Given the description of an element on the screen output the (x, y) to click on. 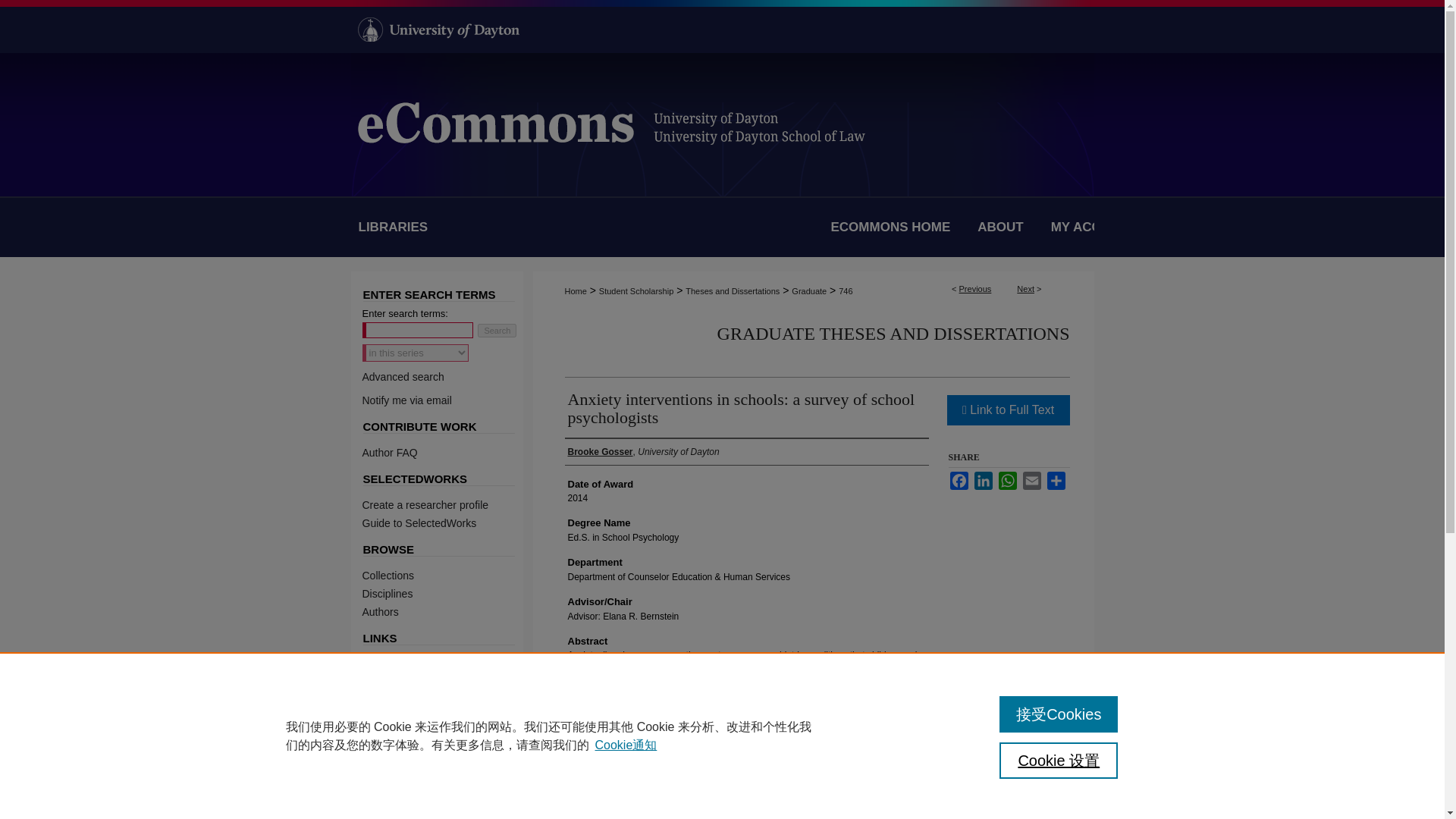
Link to Full Text (1007, 409)
Email (1031, 480)
Graduate (809, 290)
LIBRARIES (395, 227)
Create a researcher profile (447, 504)
Search (496, 330)
Theses and Dissertations (731, 290)
Advanced search (403, 377)
746 (844, 290)
Link opens in new window (1007, 409)
Home (575, 290)
Disciplines (447, 593)
LinkedIn (982, 480)
GRADUATE THESES AND DISSERTATIONS (893, 333)
